Given the description of an element on the screen output the (x, y) to click on. 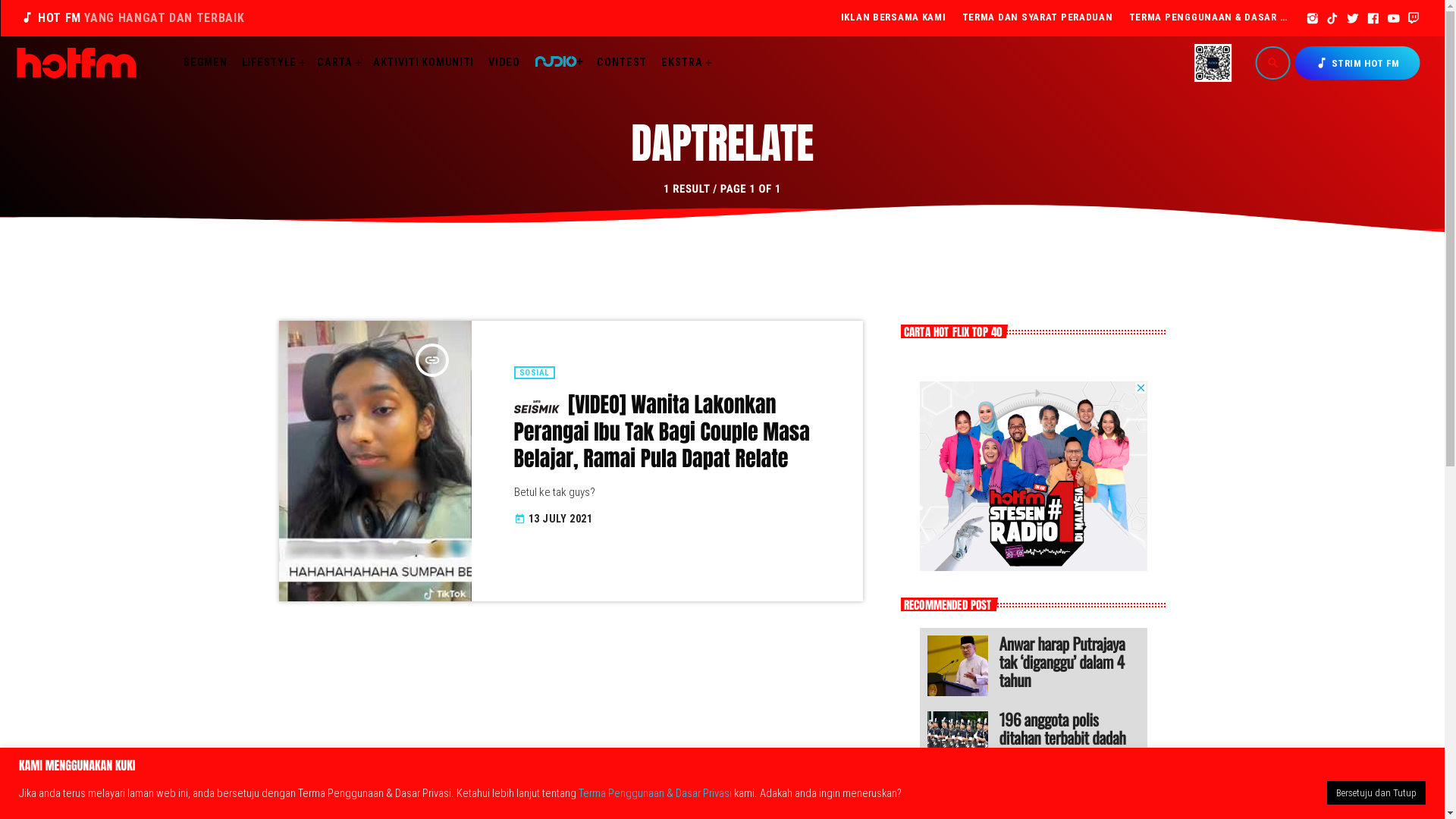
TERMA PENGGUNAAN & DASAR PRIVASI Element type: text (1209, 17)
LIFESTYLE Element type: text (271, 62)
SOSIAL Element type: text (534, 372)
TERMA DAN SYARAT PERADUAN Element type: text (1037, 17)
Bersetuju dan Tutup Element type: text (1376, 792)
IKLAN BERSAMA KAMI Element type: text (893, 17)
Terma Penggunaan & Dasar Privasi Element type: text (654, 792)
insert_link Element type: text (431, 359)
AKTIVITI KOMUNITI Element type: text (423, 62)
196 anggota polis ditahan terbabit dadah tahun ini, kata KPN Element type: hover (956, 741)
CONTEST Element type: text (621, 62)
SEGMEN Element type: text (205, 62)
CARTA Element type: text (337, 62)
3rd party ad content Element type: hover (1032, 476)
search Element type: text (1272, 62)
music_note
STRIM HOT FM Element type: text (1357, 62)
music_note
HOT FM YANG HANGAT DAN TERBAIK Element type: text (136, 17)
VIDEO Element type: text (504, 62)
EKSTRA Element type: text (684, 62)
